Given the description of an element on the screen output the (x, y) to click on. 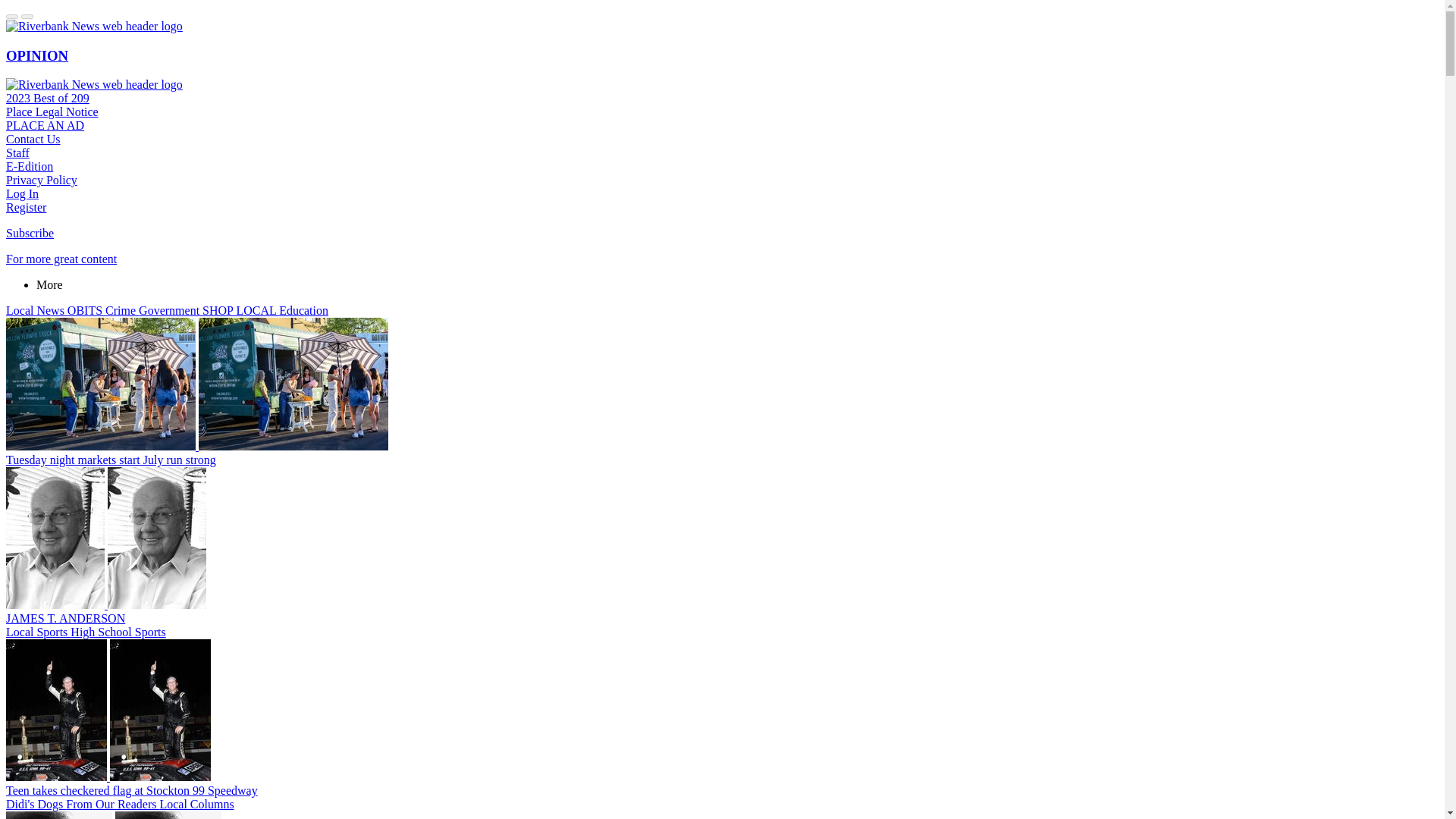
Staff (17, 152)
Government (170, 309)
Privacy Policy (41, 179)
PLACE AN AD (44, 124)
SHOP LOCAL (240, 309)
Place Legal Notice (52, 111)
Local News (35, 309)
OPINION (36, 55)
Education (304, 309)
Register (25, 206)
E-Edition (28, 165)
OBITS (85, 309)
More (49, 284)
Contact Us (33, 138)
2023 Best of 209 (46, 97)
